Given the description of an element on the screen output the (x, y) to click on. 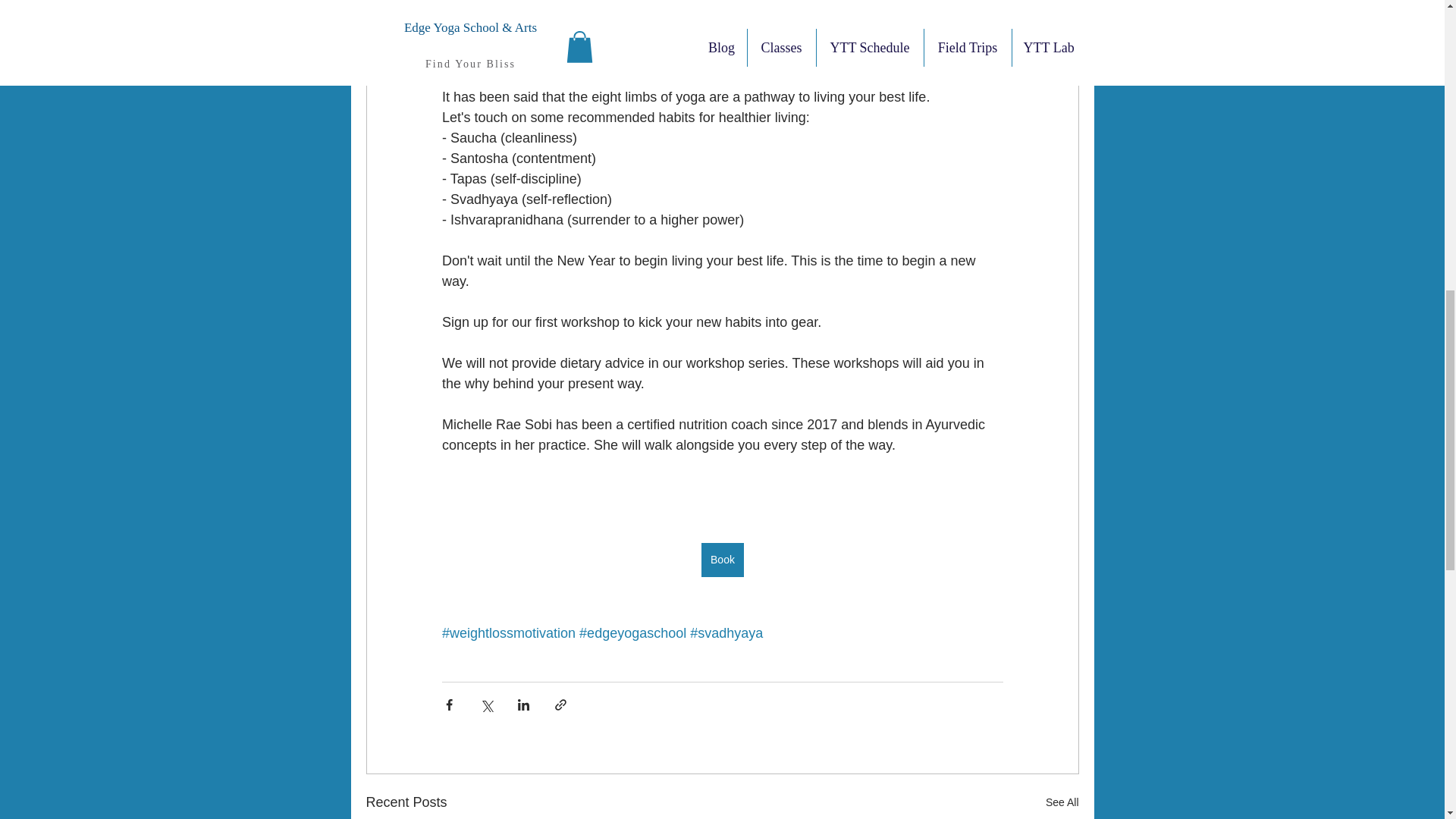
See All (1061, 802)
Book (722, 559)
